Given the description of an element on the screen output the (x, y) to click on. 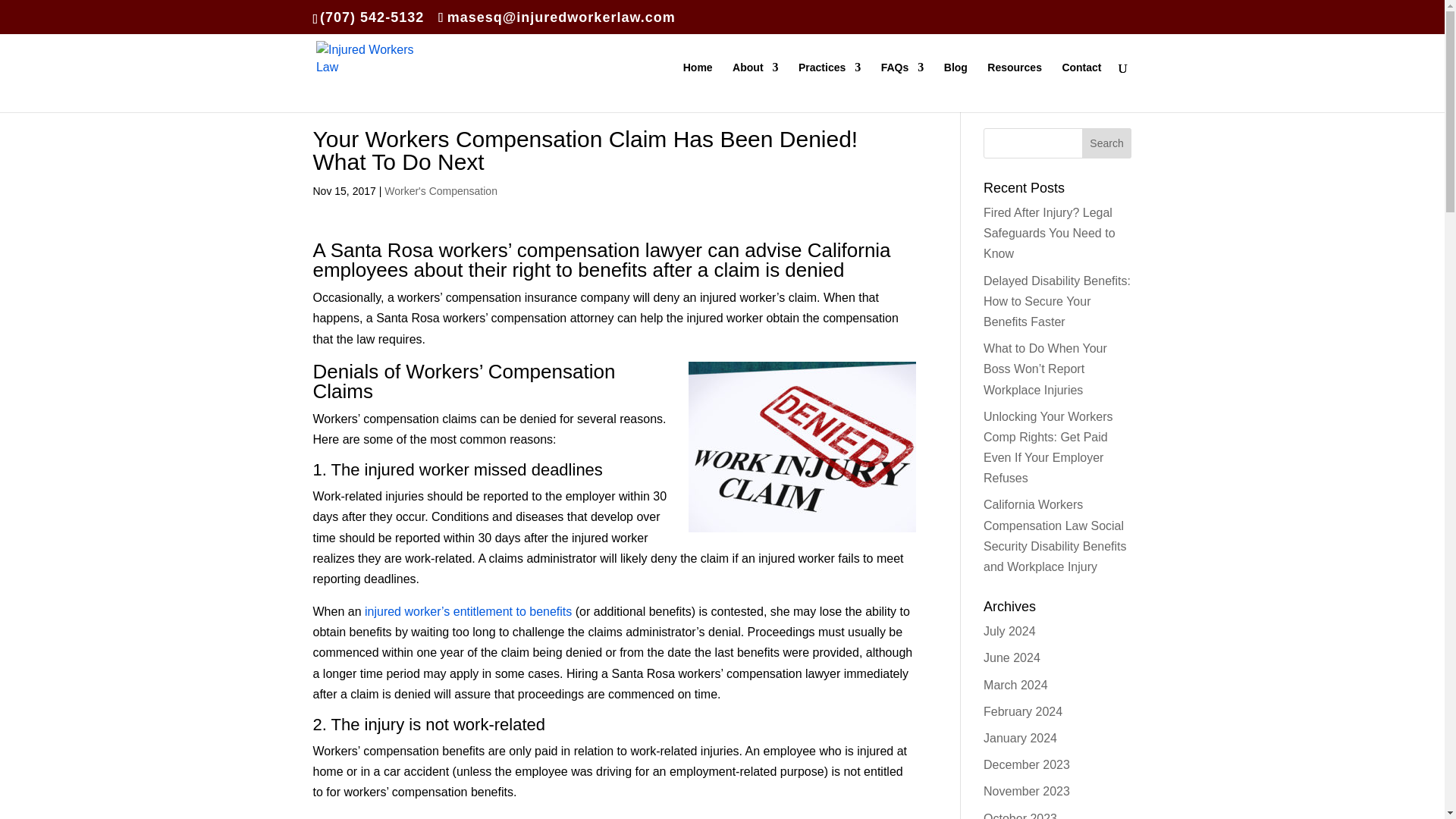
October 2023 (1020, 815)
February 2024 (1023, 711)
Fired After Injury? Legal Safeguards You Need to Know (1049, 233)
Search (1106, 142)
Search (1106, 142)
November 2023 (1027, 790)
Practices (828, 87)
June 2024 (1012, 657)
